Given the description of an element on the screen output the (x, y) to click on. 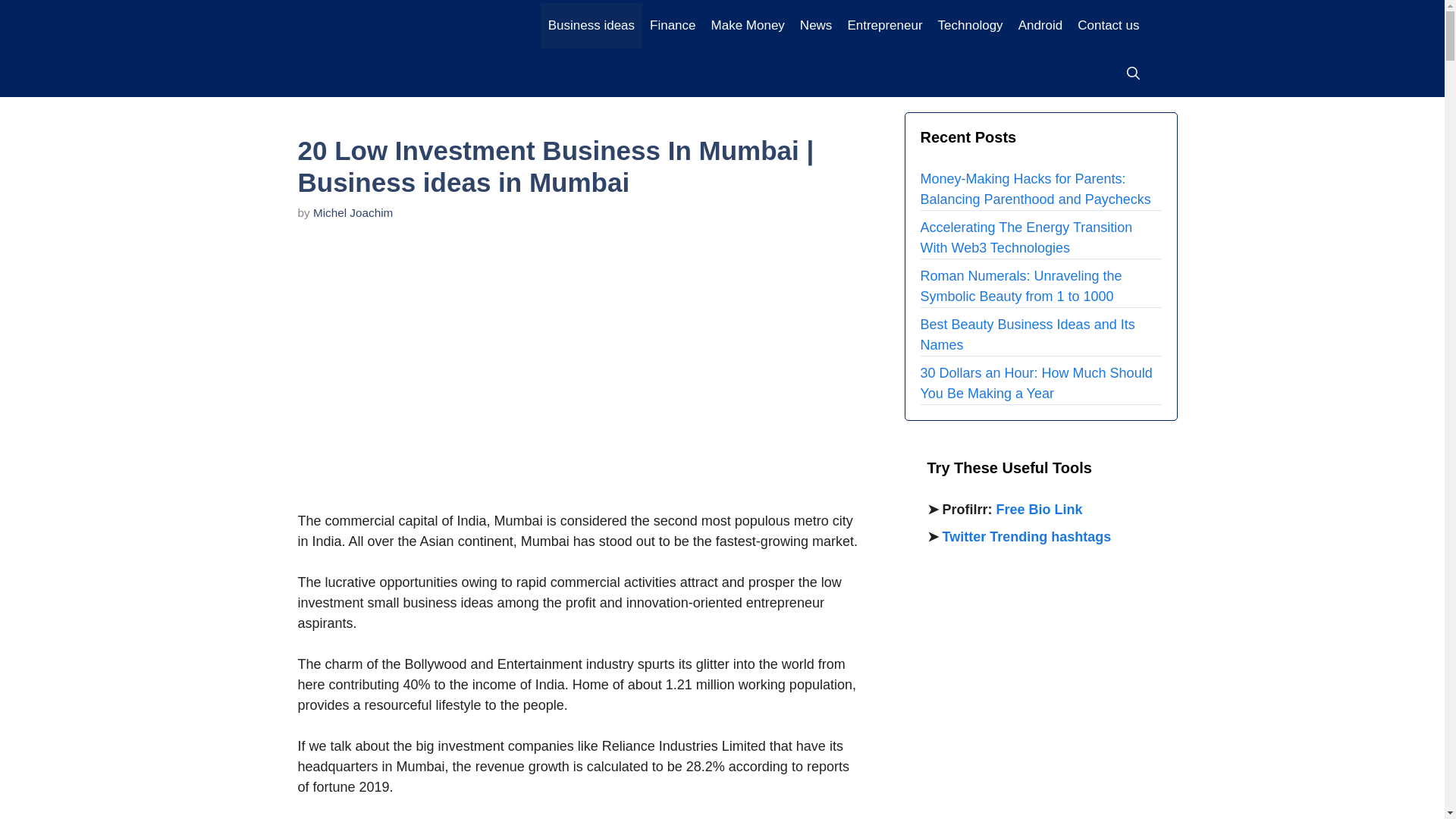
Contact us (1108, 25)
Android (1040, 25)
Buzzcnn (421, 24)
Business ideas (591, 25)
View all posts by Michel Joachim (353, 212)
Technology (970, 25)
Buzzcnn (421, 22)
News (816, 25)
Finance (672, 25)
Michel Joachim (353, 212)
